Given the description of an element on the screen output the (x, y) to click on. 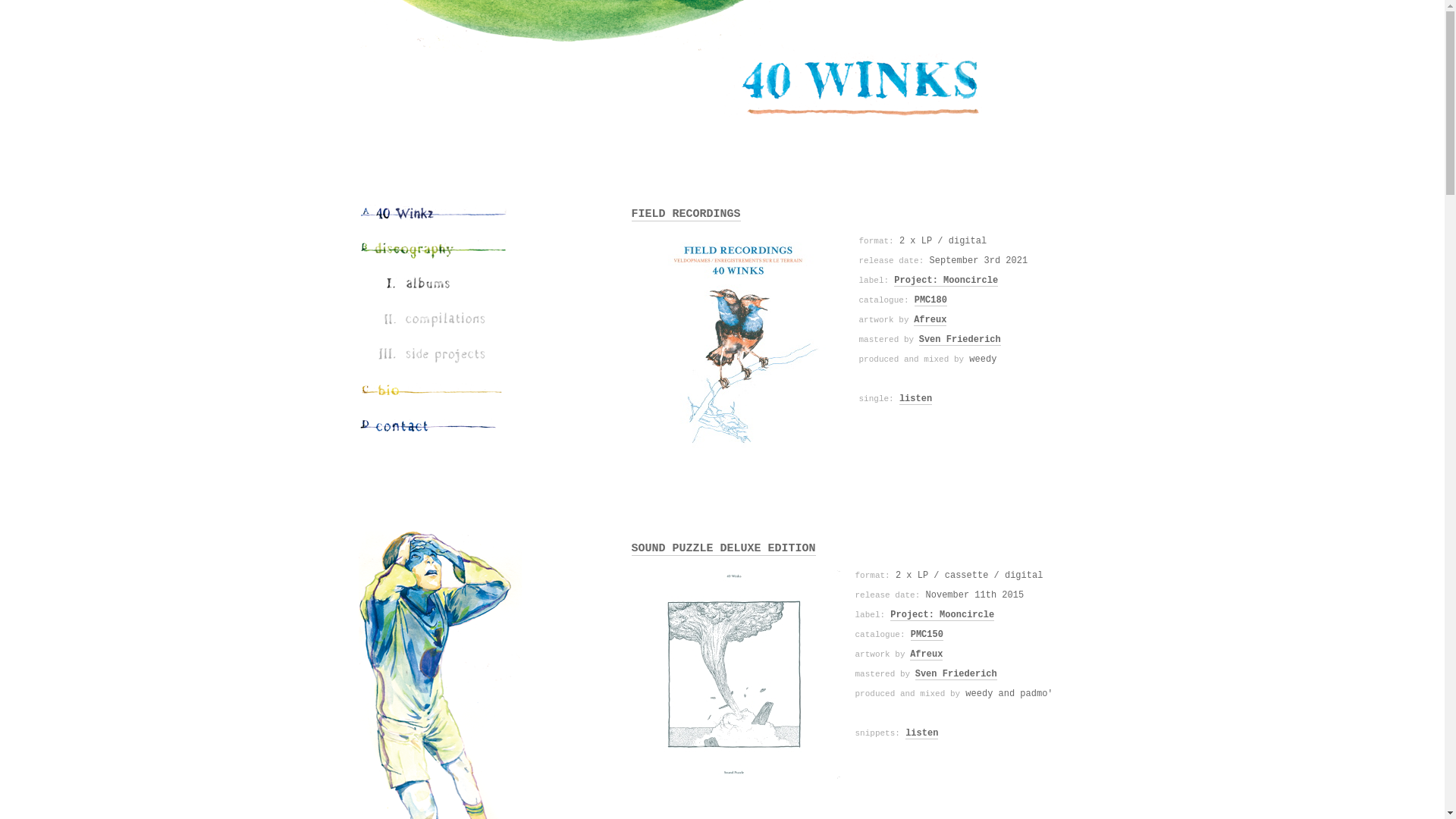
Bio Element type: text (433, 392)
Albums Element type: text (441, 286)
Project: Mooncircle Element type: text (942, 615)
listen Element type: text (921, 733)
Project: Mooncircle Element type: text (945, 280)
Contact Element type: text (433, 428)
FIELD RECORDINGS Element type: text (685, 214)
PMC150 Element type: text (926, 634)
PMC180 Element type: text (930, 300)
Discography Element type: text (433, 250)
Sven Friederich Element type: text (960, 339)
listen Element type: text (915, 398)
Compilations Element type: text (441, 321)
SOUND PUZZLE DELUXE EDITION Element type: text (722, 548)
40 Winks Element type: text (721, 91)
Sven Friederich Element type: text (956, 674)
Side Projects Element type: text (441, 357)
Afreux Element type: text (926, 654)
Afreux Element type: text (929, 320)
40 Winks Element type: text (433, 214)
